Given the description of an element on the screen output the (x, y) to click on. 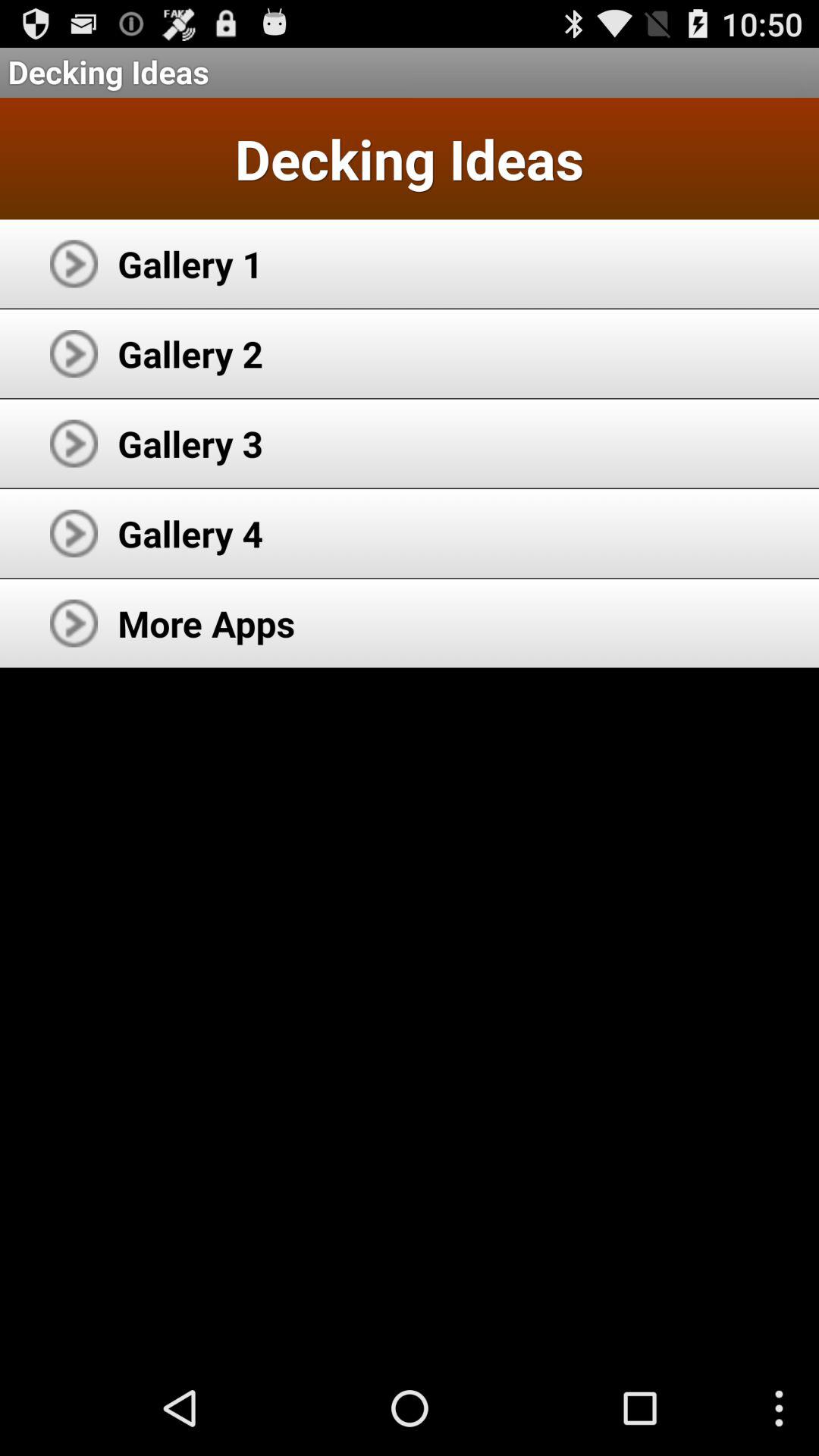
select the icon which is left to the more apps (73, 623)
click the third drop down (73, 443)
